Given the description of an element on the screen output the (x, y) to click on. 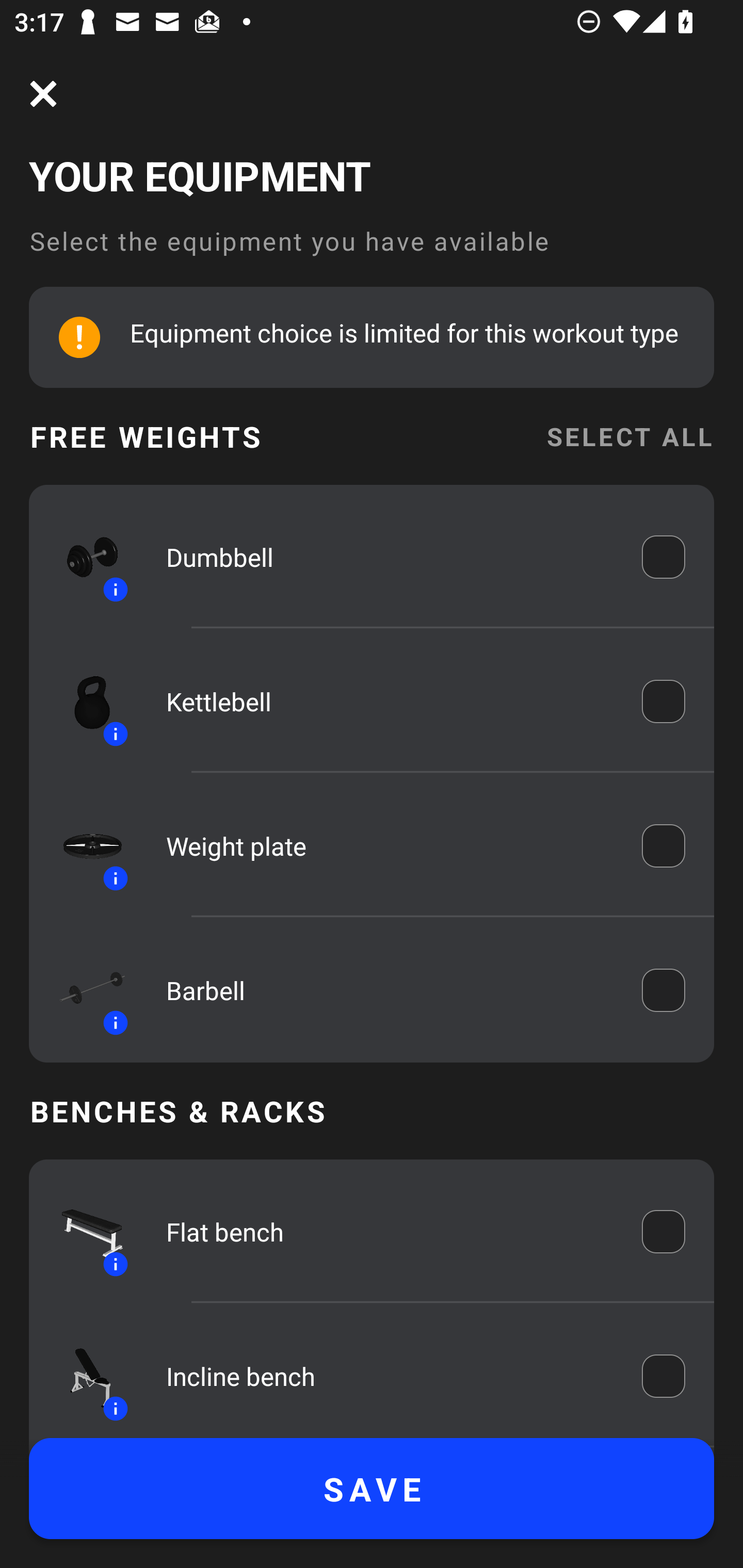
Navigation icon (43, 93)
SELECT ALL (629, 436)
Equipment icon Information icon (82, 557)
Dumbbell (389, 557)
Equipment icon Information icon (82, 701)
Kettlebell (389, 701)
Equipment icon Information icon (82, 845)
Weight plate (389, 845)
Equipment icon Information icon (82, 990)
Barbell (389, 990)
Equipment icon Information icon (82, 1231)
Flat bench (389, 1231)
Equipment icon Information icon (82, 1375)
Incline bench (389, 1375)
SAVE (371, 1488)
